Given the description of an element on the screen output the (x, y) to click on. 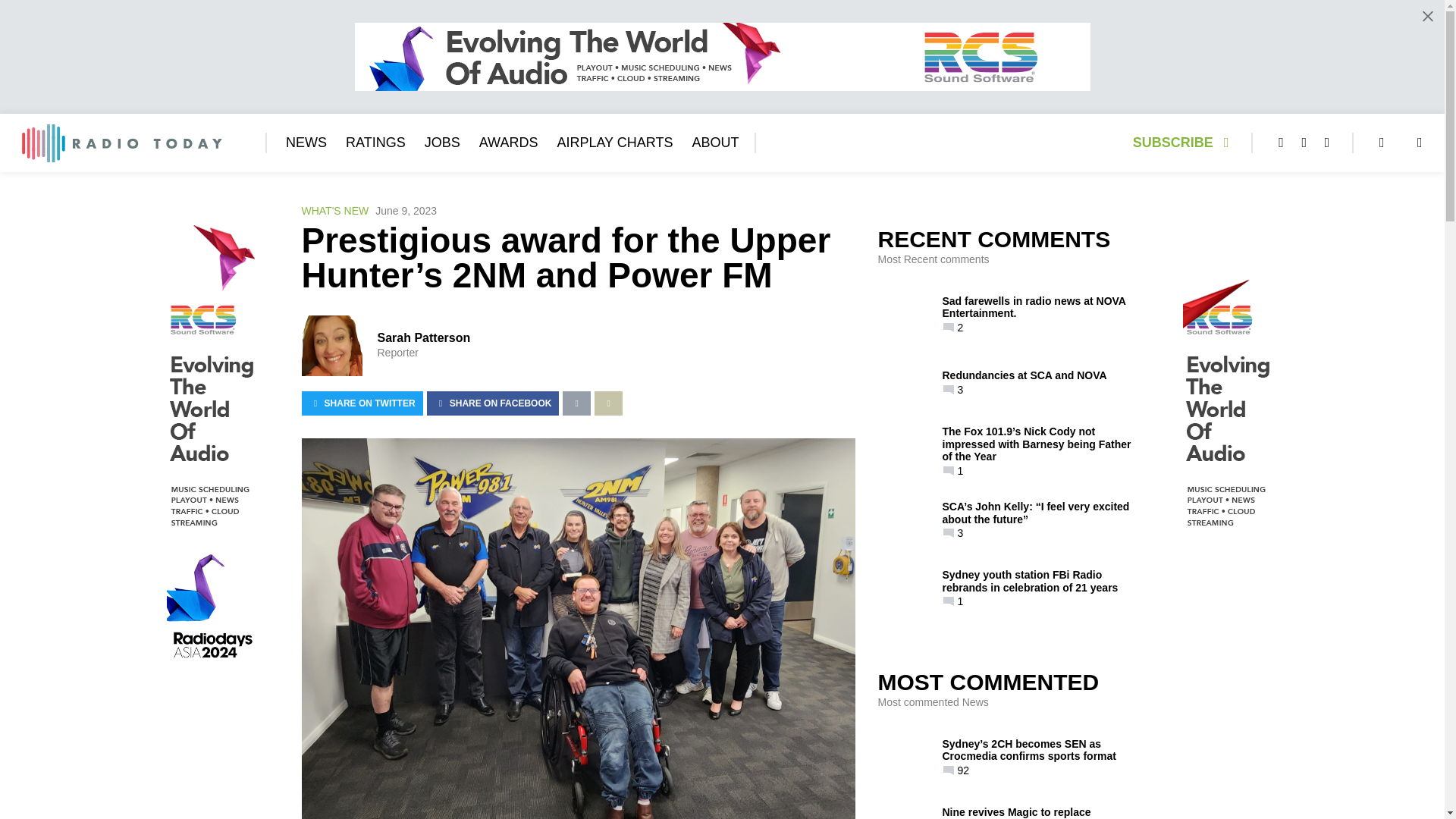
JOBS (442, 142)
Close (1427, 16)
Sarah Patterson (423, 337)
NEWS (305, 142)
WHAT'S NEW (335, 211)
SUBSCRIBE (1184, 142)
ABOUT (714, 142)
RATINGS (376, 142)
AWARDS (508, 142)
AIRPLAY CHARTS (614, 142)
